Given the description of an element on the screen output the (x, y) to click on. 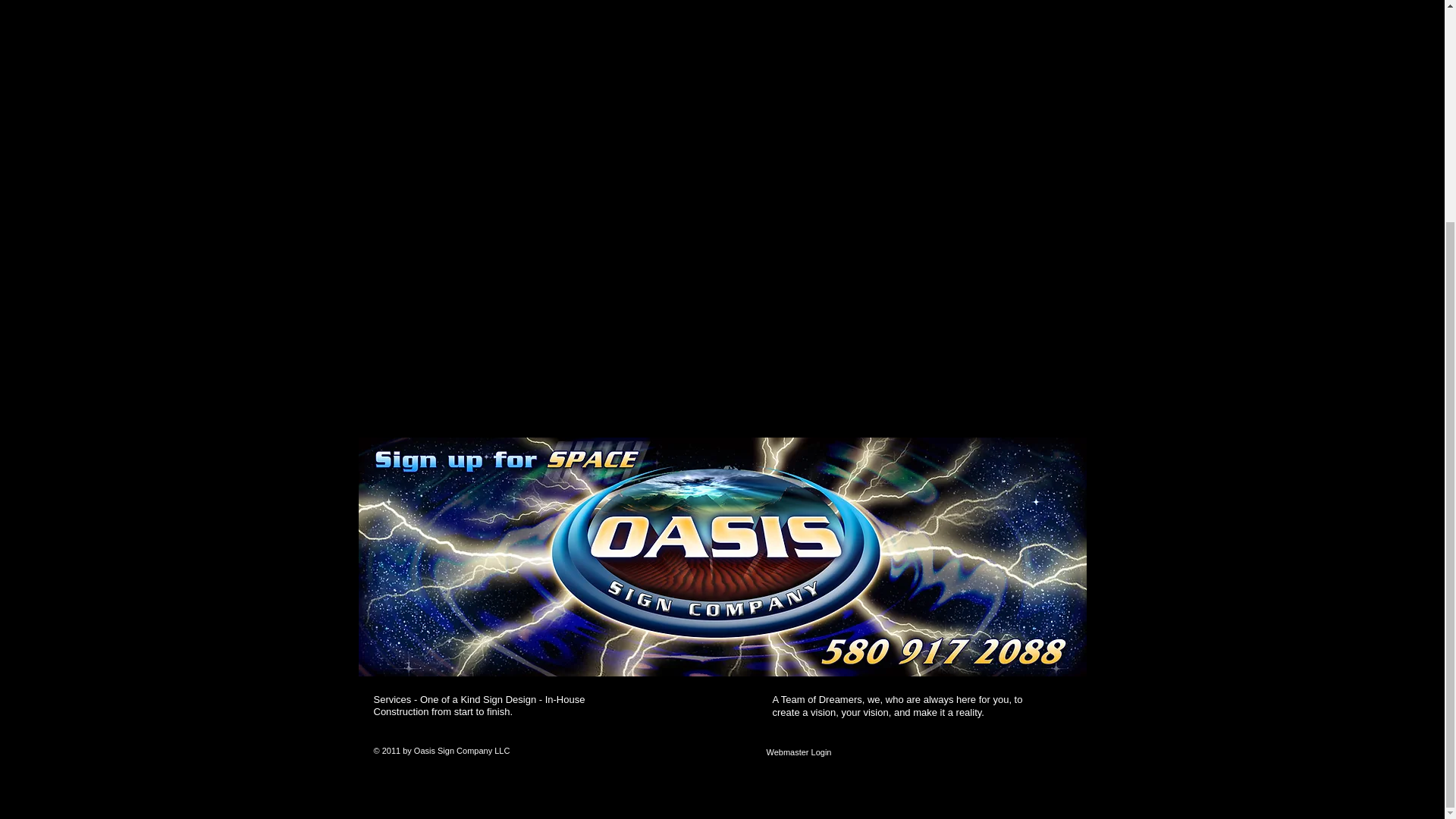
Webmaster Login (798, 751)
